Given the description of an element on the screen output the (x, y) to click on. 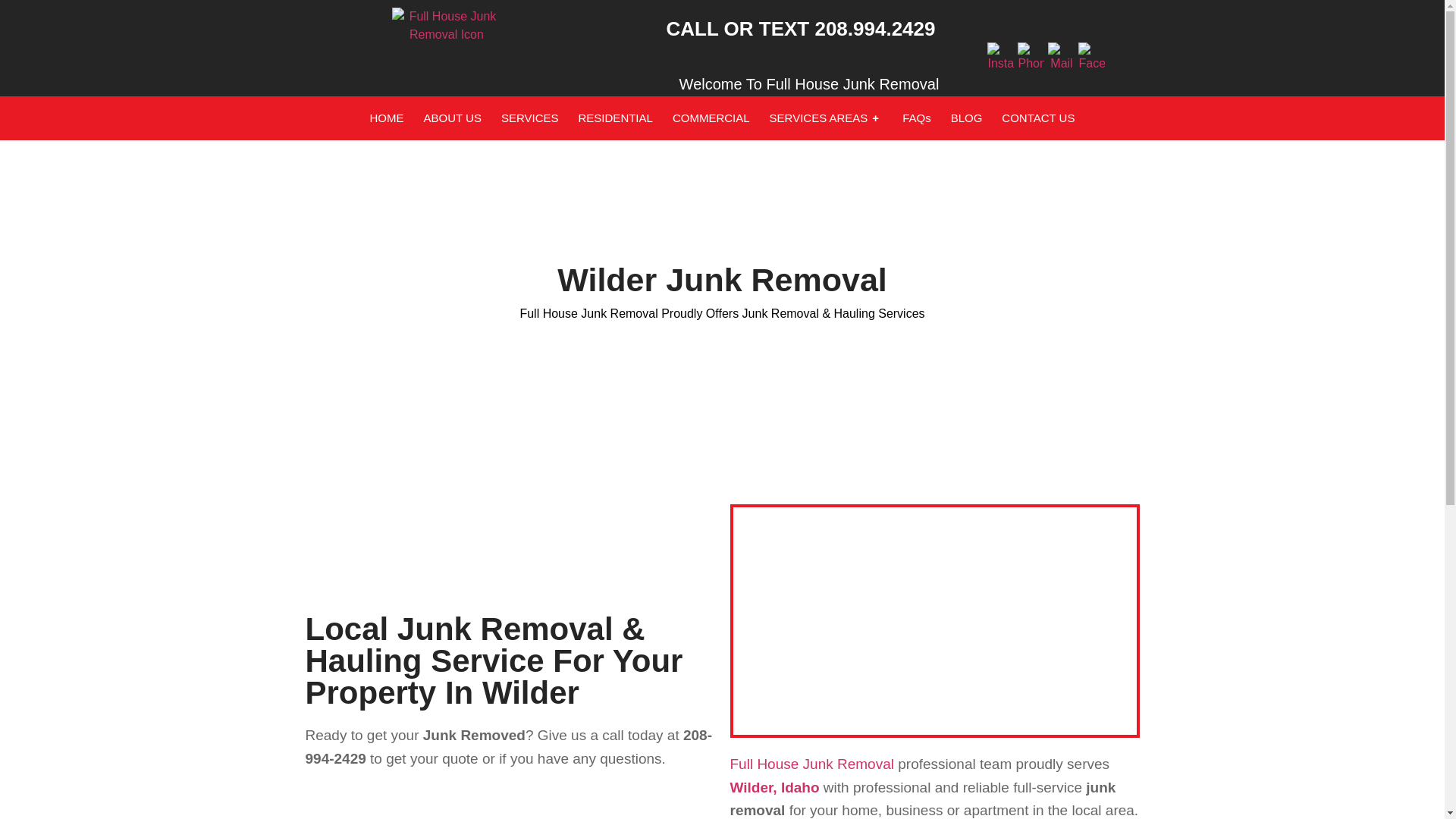
FAQs (916, 118)
COMMERCIAL (710, 118)
CONTACT US (1037, 118)
HOME (386, 118)
ABOUT US (452, 118)
RESIDENTIAL (615, 118)
SERVICES (529, 118)
Wilder, Idaho (933, 620)
BLOG (966, 118)
Full House Junk Removal (811, 763)
